Given the description of an element on the screen output the (x, y) to click on. 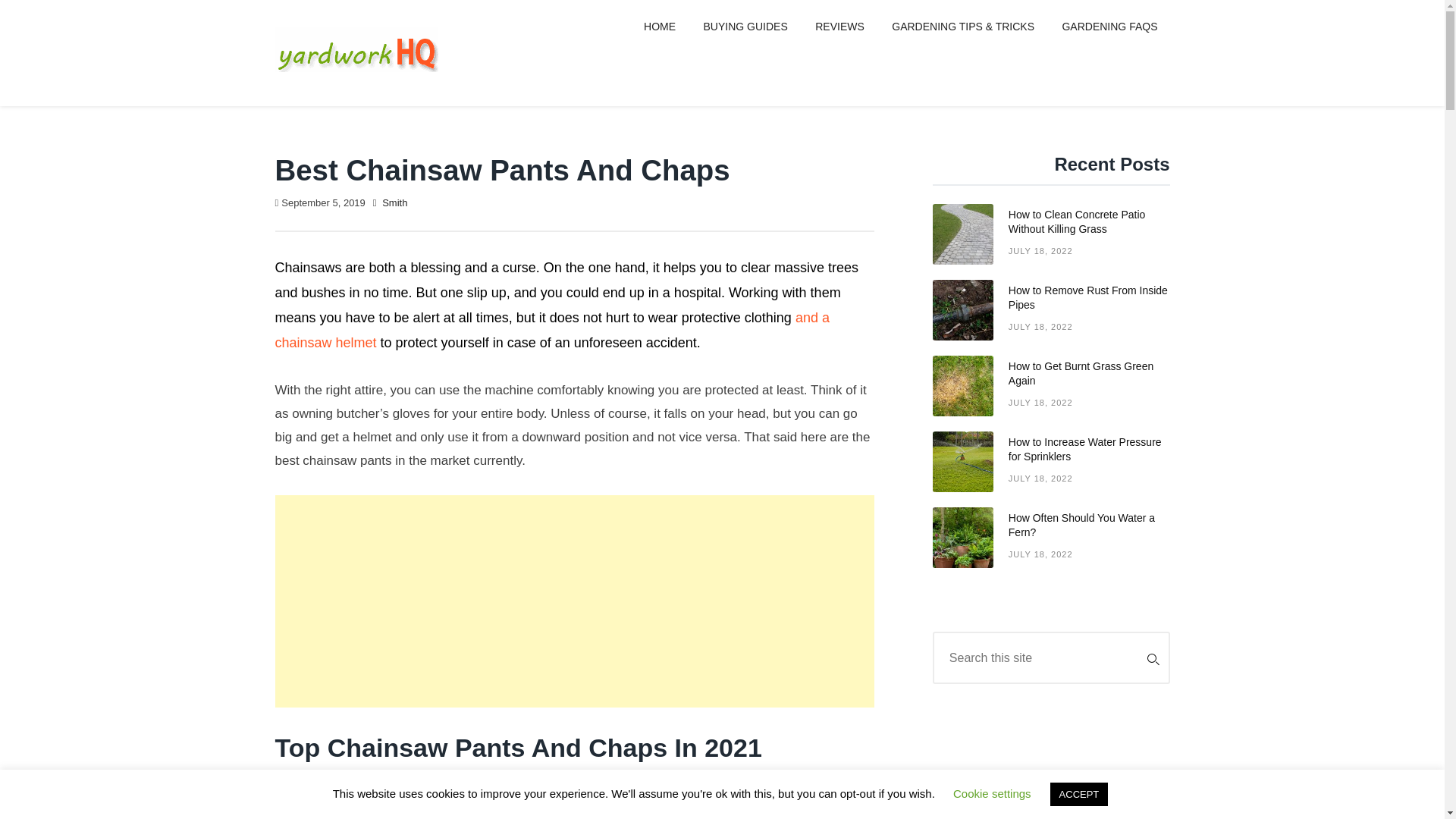
GARDENING FAQS (1109, 27)
How to Remove Rust From Inside Pipes (1051, 317)
HOME (659, 27)
Advertisement (575, 601)
Smith (394, 202)
September 5, 2019 (323, 202)
How to Increase Water Pressure for Sprinklers (1051, 544)
Name Style Specs Price (1051, 468)
How Often Should You Water a Fern? (575, 803)
BUYING GUIDES (1051, 544)
